Given the description of an element on the screen output the (x, y) to click on. 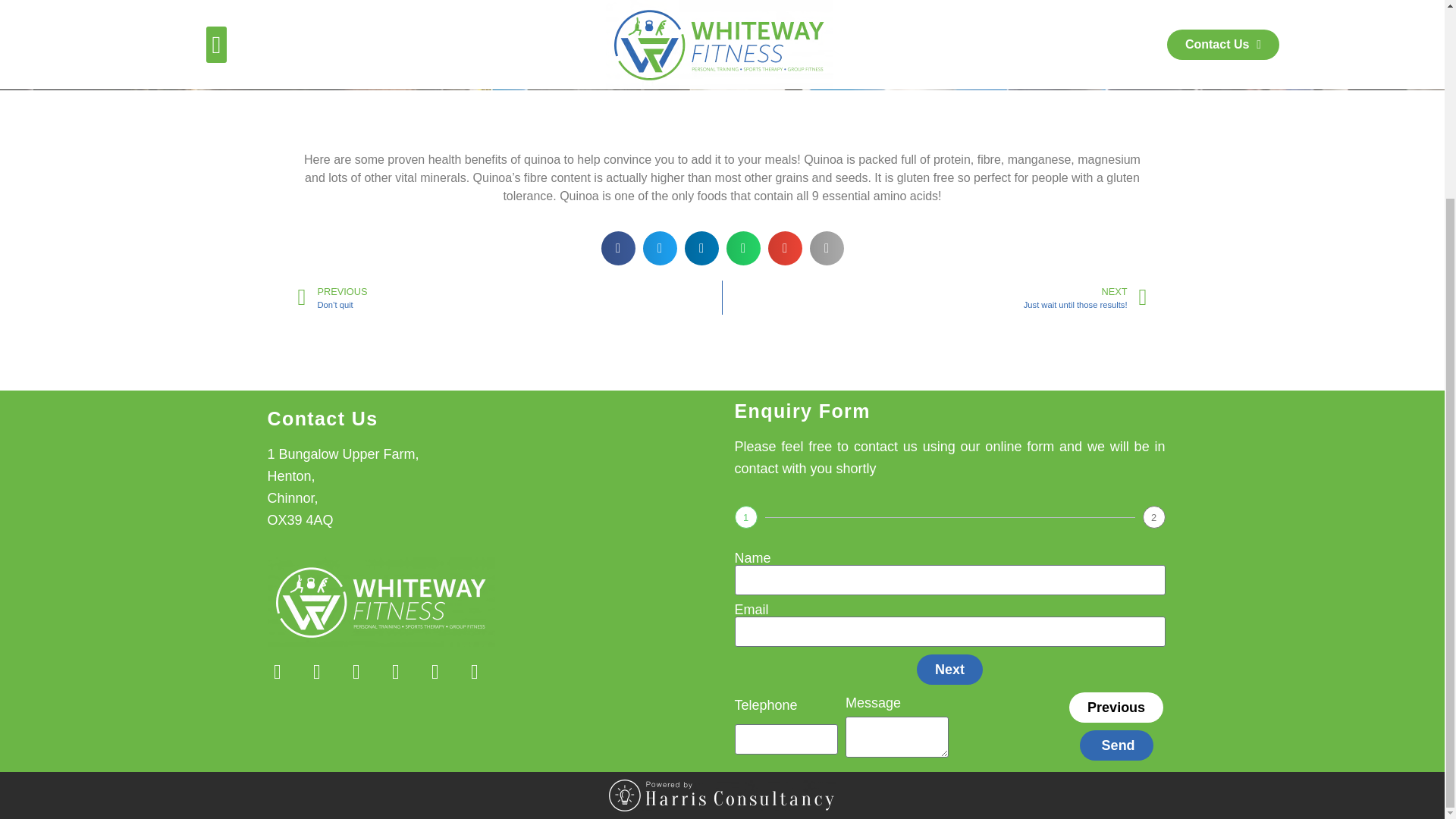
Next (949, 669)
Send (342, 486)
Previous (934, 297)
